Given the description of an element on the screen output the (x, y) to click on. 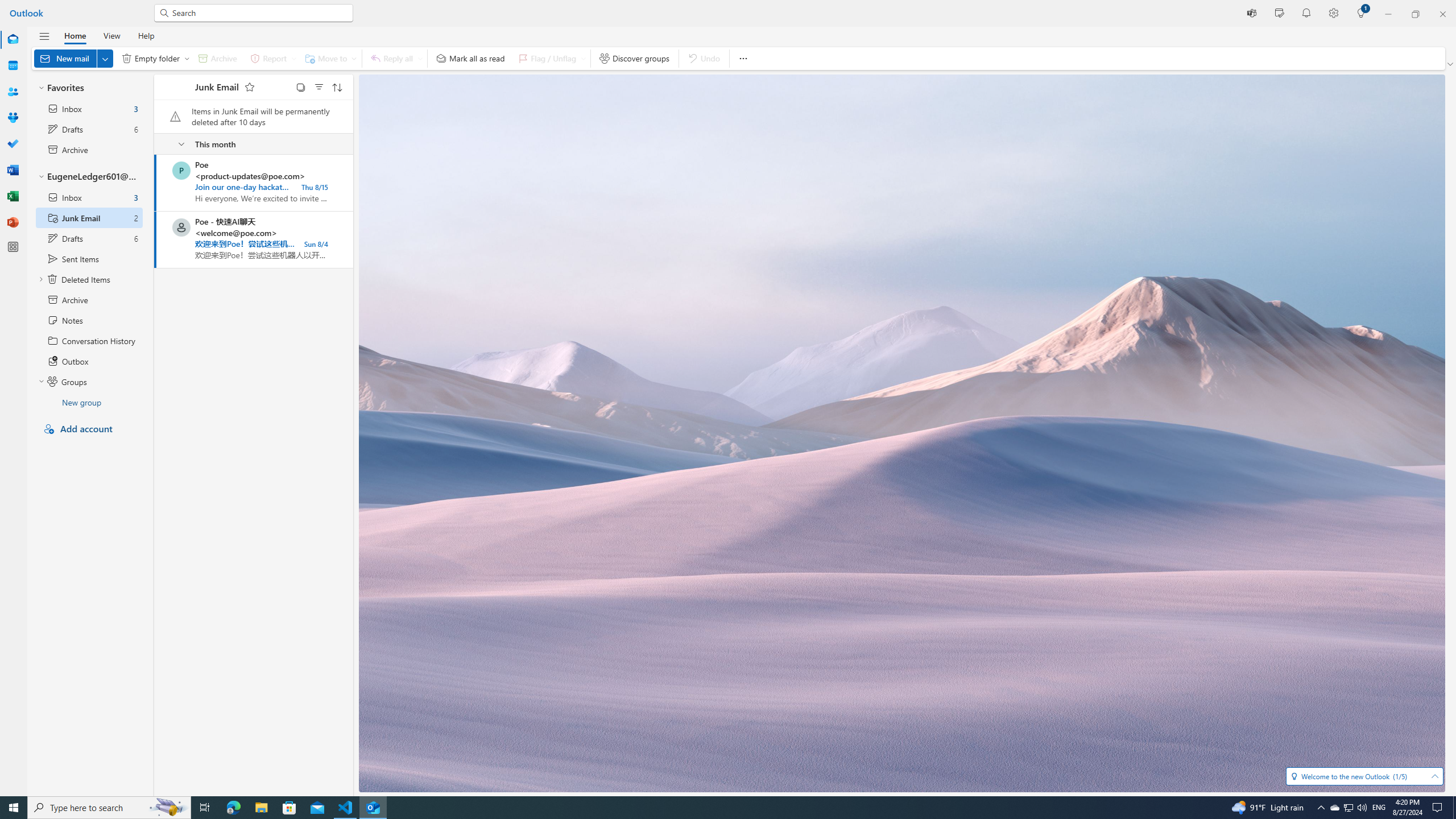
Select (300, 86)
Deleted Items (89, 278)
To Do (12, 143)
Ribbon display options (1450, 63)
Drafts 6 items (89, 237)
Select a message (172, 227)
Word (12, 169)
Add account (89, 429)
New group (89, 401)
Expand to see more New options (104, 58)
Inbox 3 unread (89, 196)
